Given the description of an element on the screen output the (x, y) to click on. 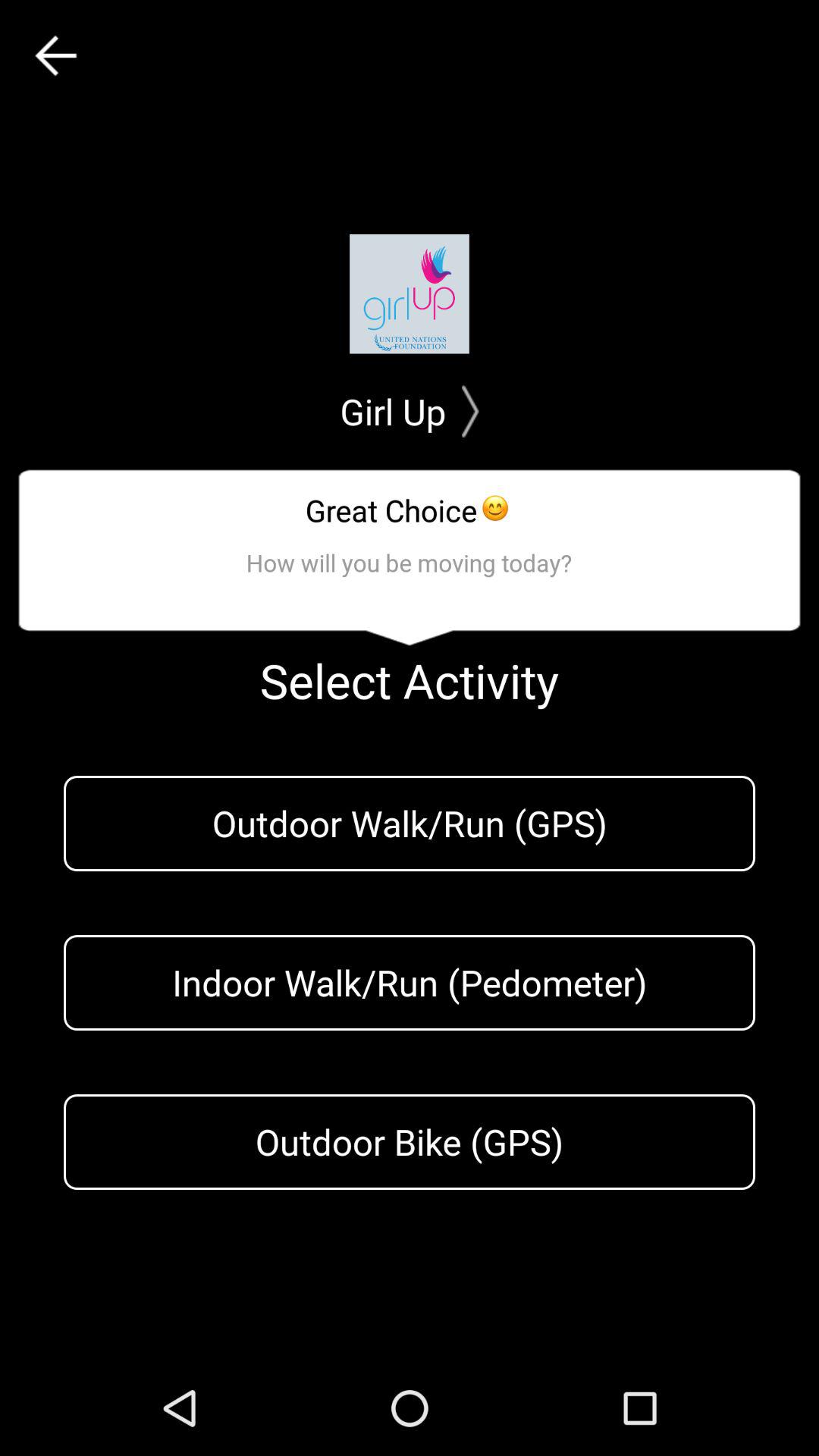
turn on the item above the outdoor walk run item (55, 55)
